Given the description of an element on the screen output the (x, y) to click on. 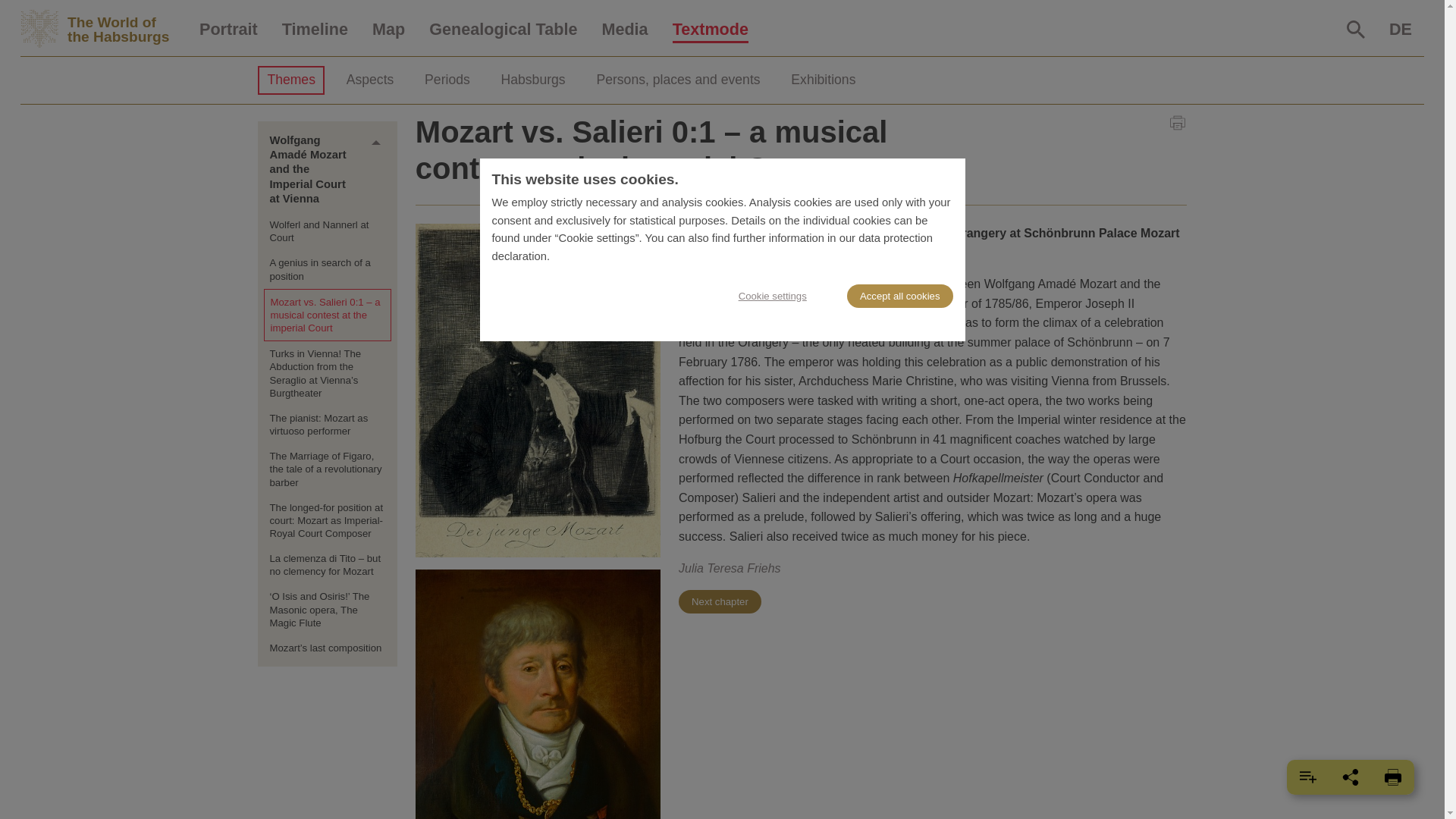
search (1355, 29)
Toggle menu (376, 142)
Genealogical Table (103, 29)
Die Welt der Habsburger Home (502, 29)
Map (103, 29)
Timeline (387, 29)
Textmode (314, 29)
Portrait (710, 29)
Media (228, 29)
